Given the description of an element on the screen output the (x, y) to click on. 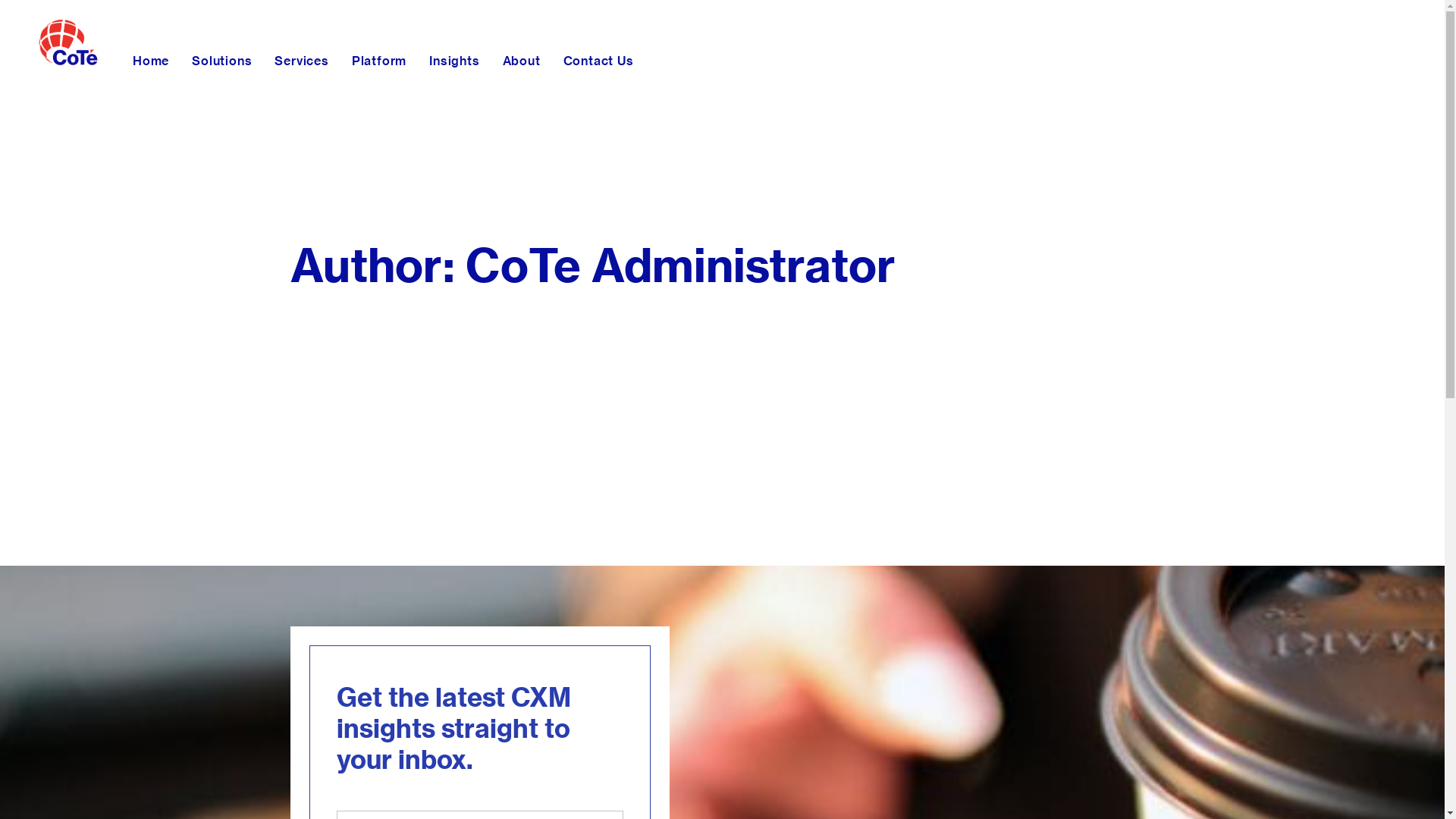
Services Element type: text (301, 60)
Solutions Element type: text (221, 60)
Insights Element type: text (453, 60)
Home Element type: text (150, 60)
About Element type: text (521, 60)
Contact Us Element type: text (598, 60)
Platform Element type: text (378, 60)
